Given the description of an element on the screen output the (x, y) to click on. 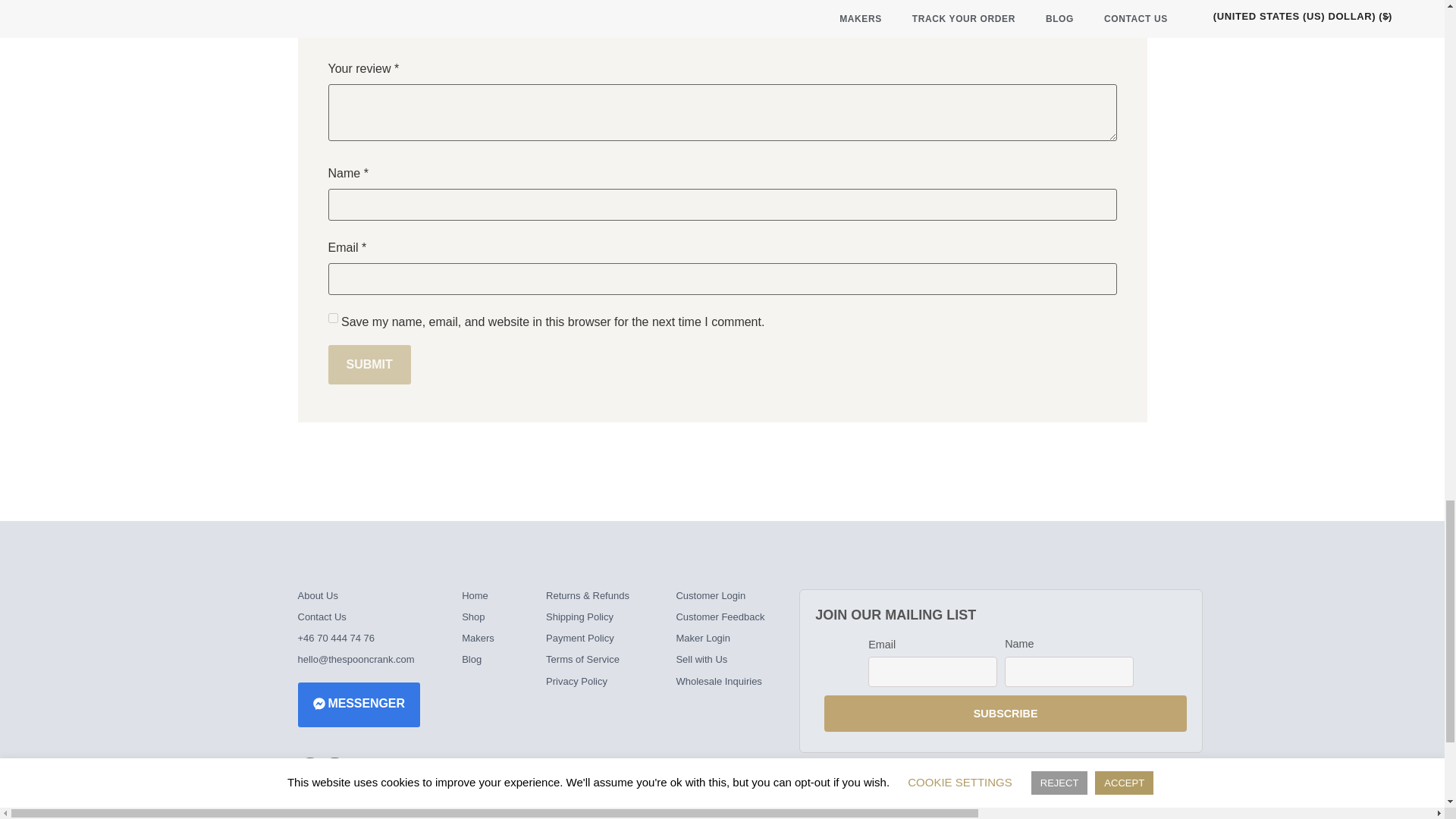
SUBSCRIBE (1005, 713)
Submit (368, 364)
yes (332, 317)
